Given the description of an element on the screen output the (x, y) to click on. 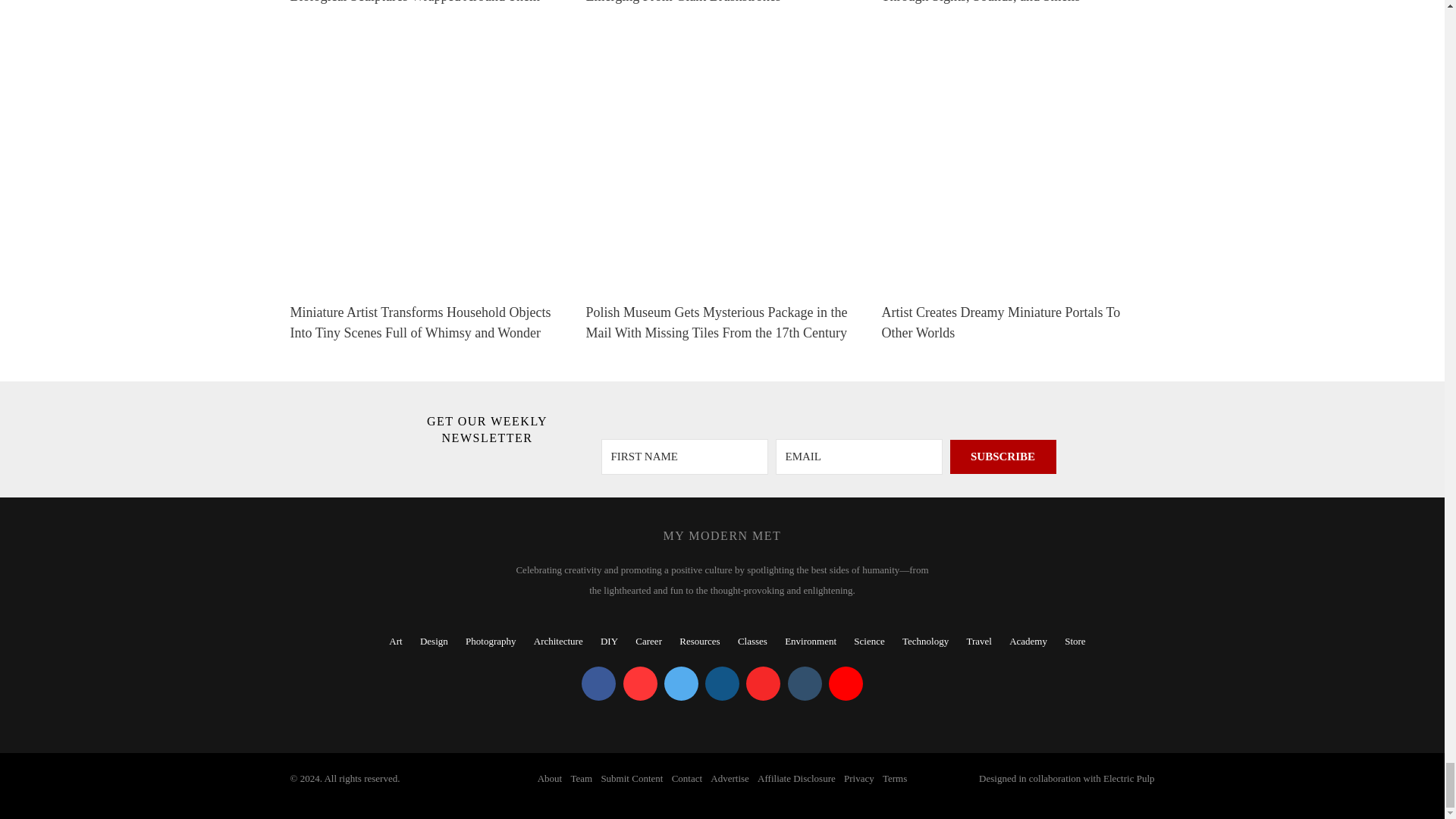
My Modern Met on Instagram (721, 683)
My Modern Met on Facebook (597, 683)
My Modern Met on Twitter (680, 683)
My Modern Met on Tumblr (804, 683)
My Modern Met on Pinterest (640, 683)
My Modern Met on YouTube (845, 683)
